Given the description of an element on the screen output the (x, y) to click on. 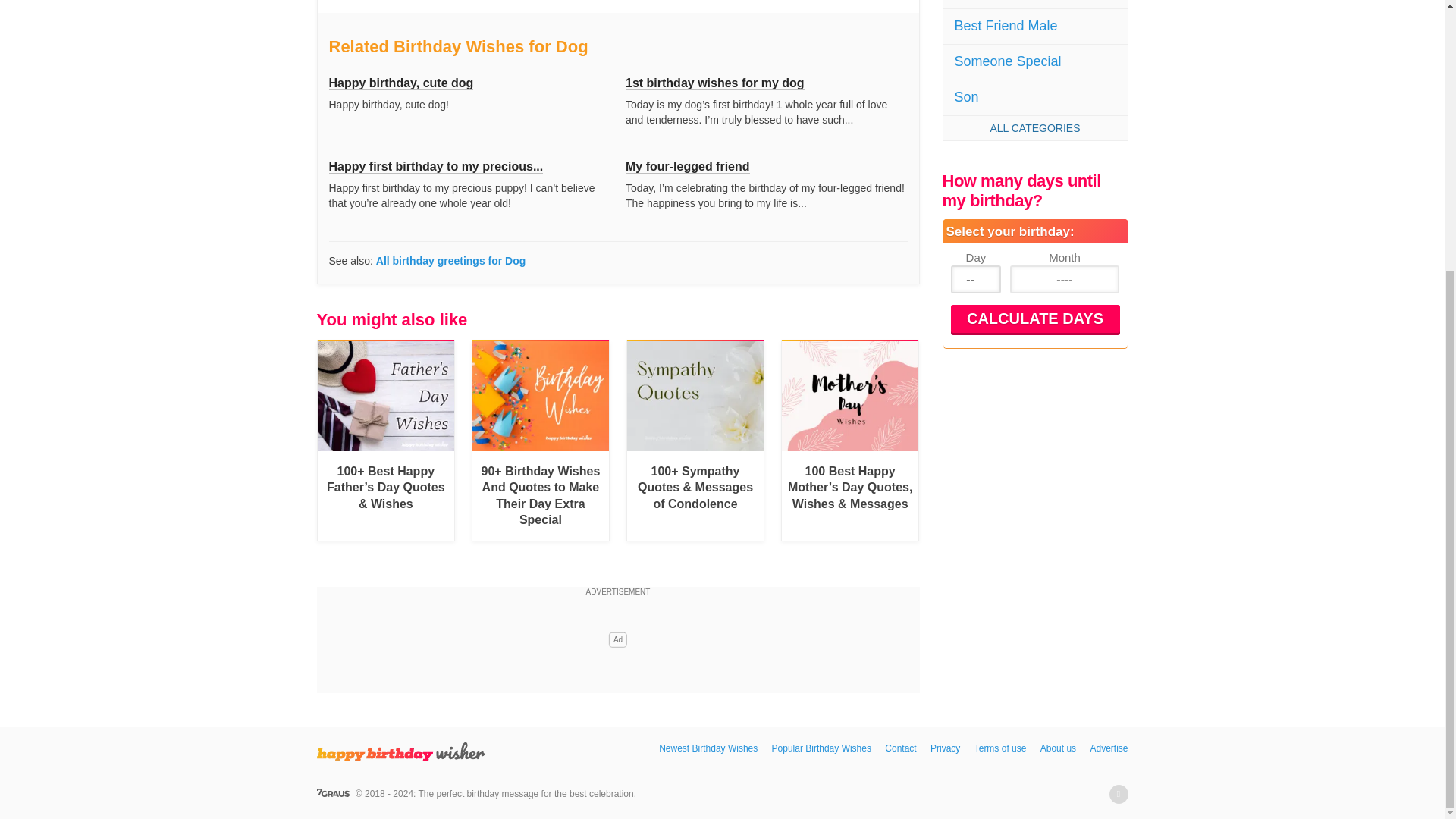
RSS do Happy Birthday Wisher (1117, 793)
Happy birthday, cute dog (401, 83)
1st birthday wishes for my dog (715, 83)
Calculate Days (1034, 318)
My four-legged friend (687, 166)
All birthday greetings for Dog (450, 260)
Happy first birthday to my precious... (436, 166)
